Given the description of an element on the screen output the (x, y) to click on. 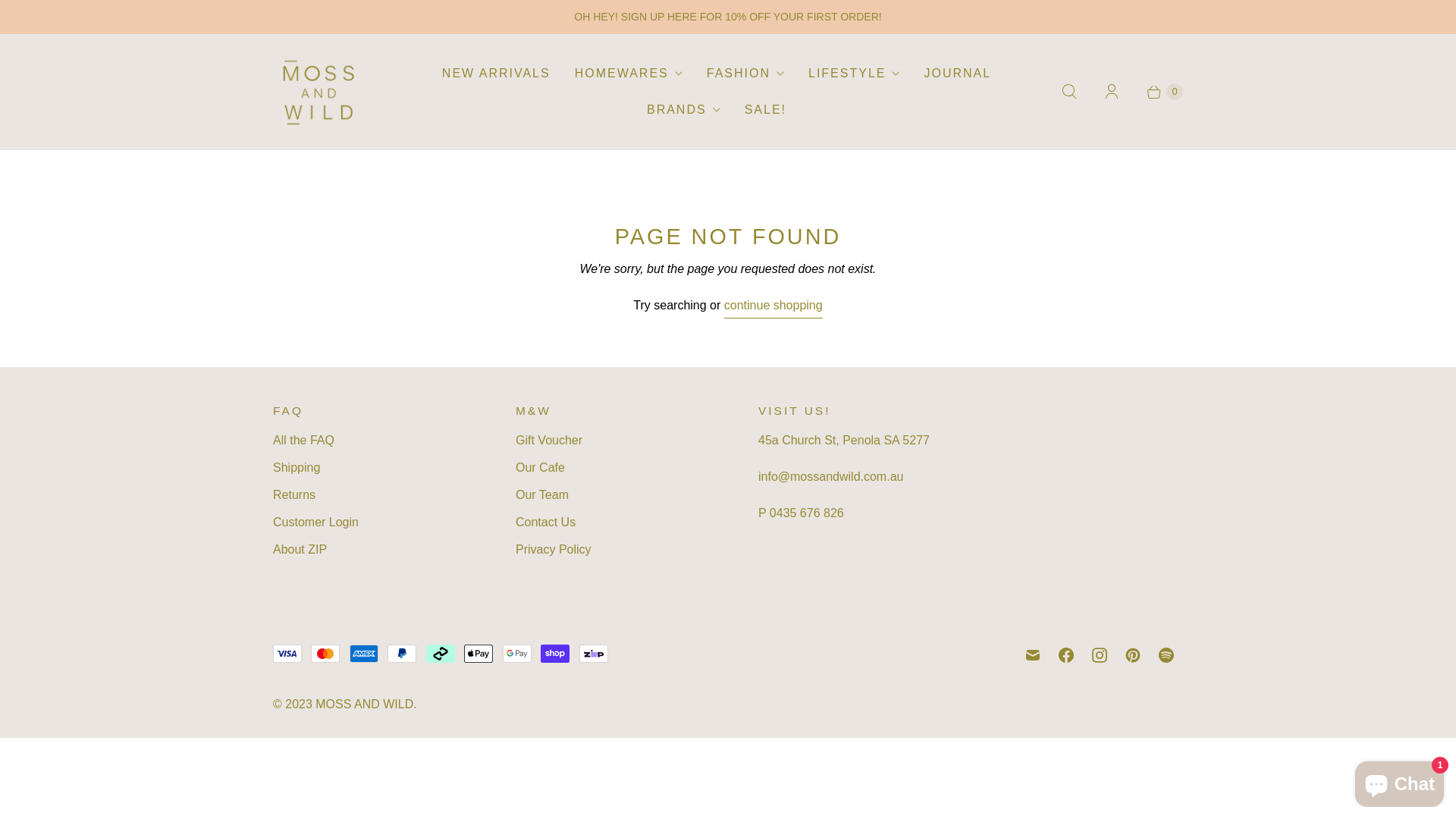
Gift Voucher Element type: text (548, 439)
continue shopping Element type: text (773, 307)
Returns Element type: text (294, 494)
Privacy Policy Element type: text (553, 548)
JOURNAL Element type: text (957, 73)
Shopify online store chat Element type: hover (1399, 780)
Shipping Element type: text (296, 467)
Contact Us Element type: text (545, 521)
SALE! Element type: text (765, 109)
About ZIP Element type: text (299, 548)
NEW ARRIVALS Element type: text (495, 73)
MOSS AND WILD Element type: text (364, 703)
Our Team Element type: text (541, 494)
Customer Login Element type: text (315, 521)
All the FAQ Element type: text (303, 439)
Our Cafe Element type: text (539, 467)
0 Element type: text (1157, 91)
